Given the description of an element on the screen output the (x, y) to click on. 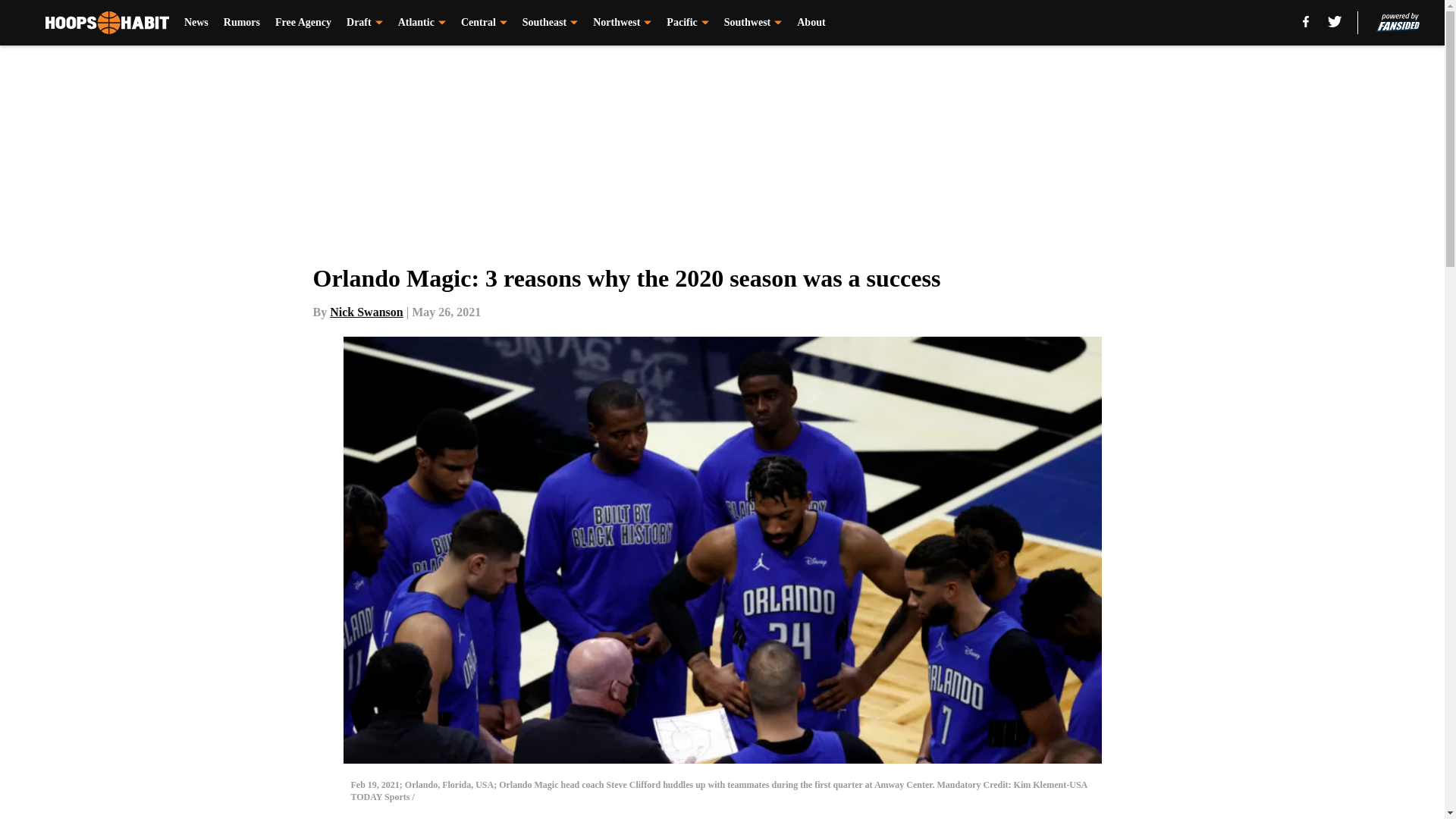
Free Agency (303, 22)
Draft (364, 22)
Atlantic (421, 22)
Northwest (621, 22)
News (196, 22)
Southeast (550, 22)
Central (483, 22)
Rumors (242, 22)
